Given the description of an element on the screen output the (x, y) to click on. 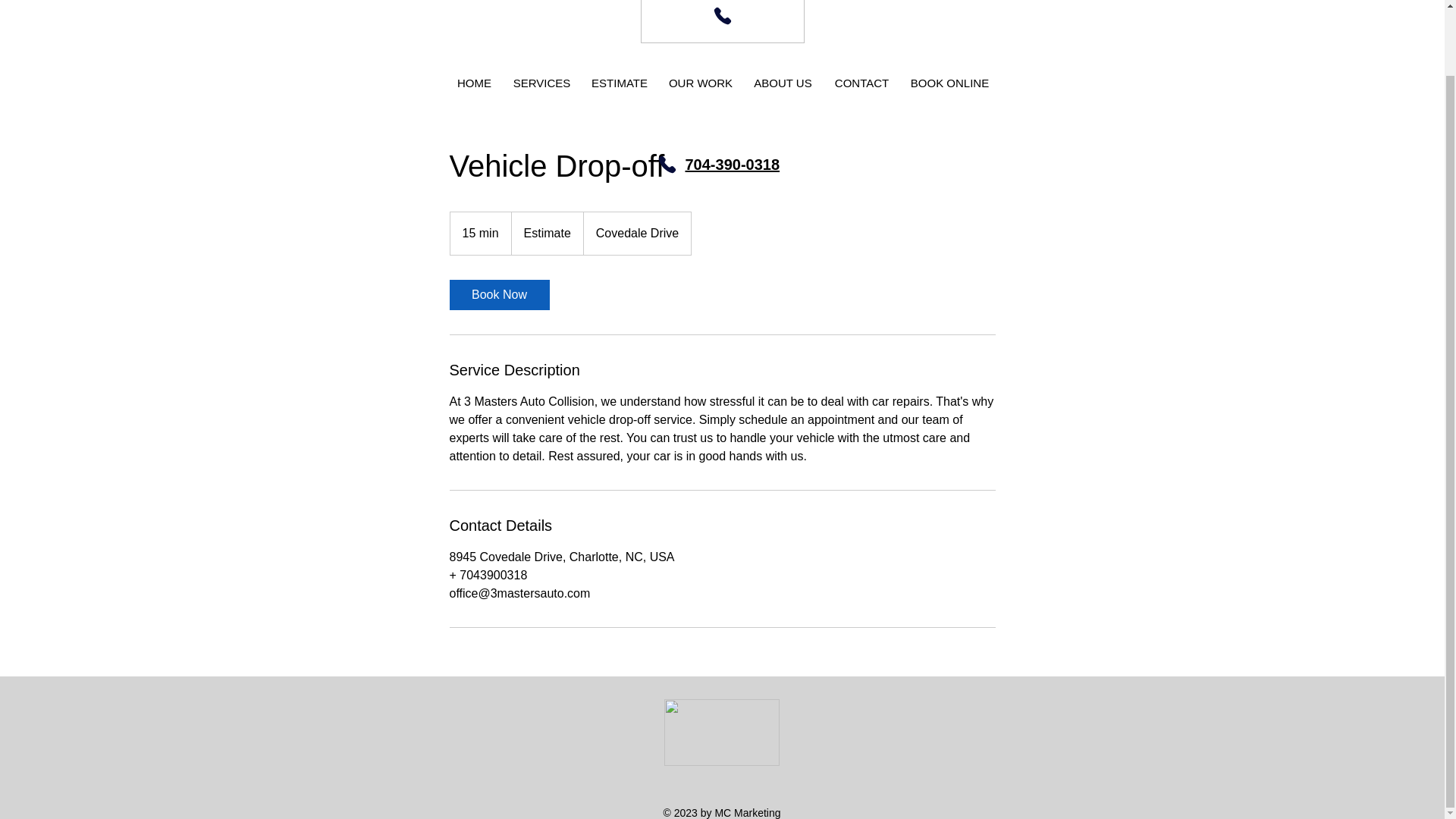
ABOUT US (783, 83)
SERVICES (541, 83)
OUR WORK (700, 83)
704-390-0318 (732, 164)
Book Now (498, 295)
ESTIMATE (619, 83)
CONTACT (862, 83)
HOME (474, 83)
BOOK ONLINE (949, 83)
